Given the description of an element on the screen output the (x, y) to click on. 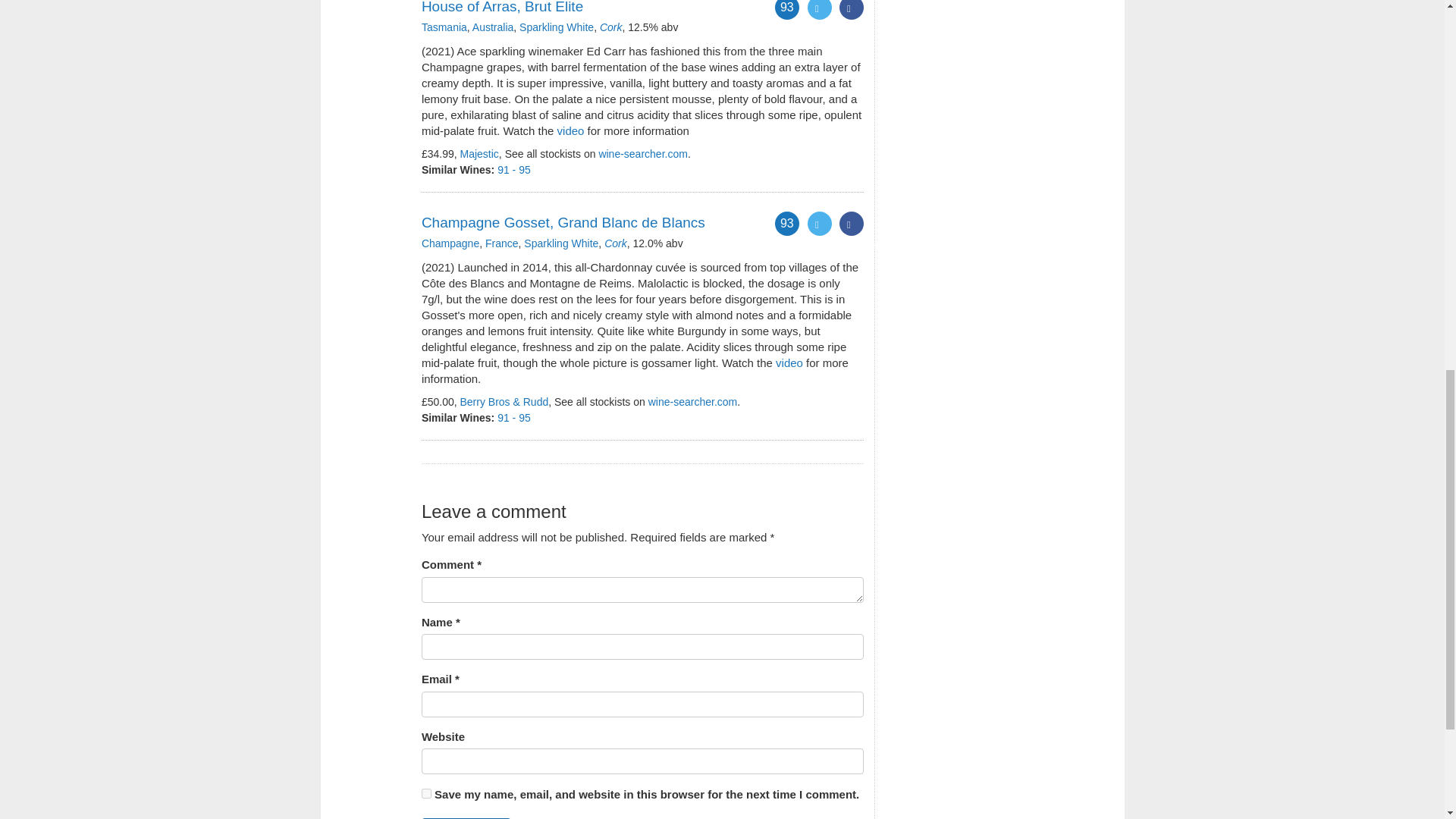
Tweet on Twitter (819, 9)
Share on Facebook (851, 9)
Tweet on Twitter (819, 223)
yes (426, 793)
Share on Facebook (851, 223)
